Given the description of an element on the screen output the (x, y) to click on. 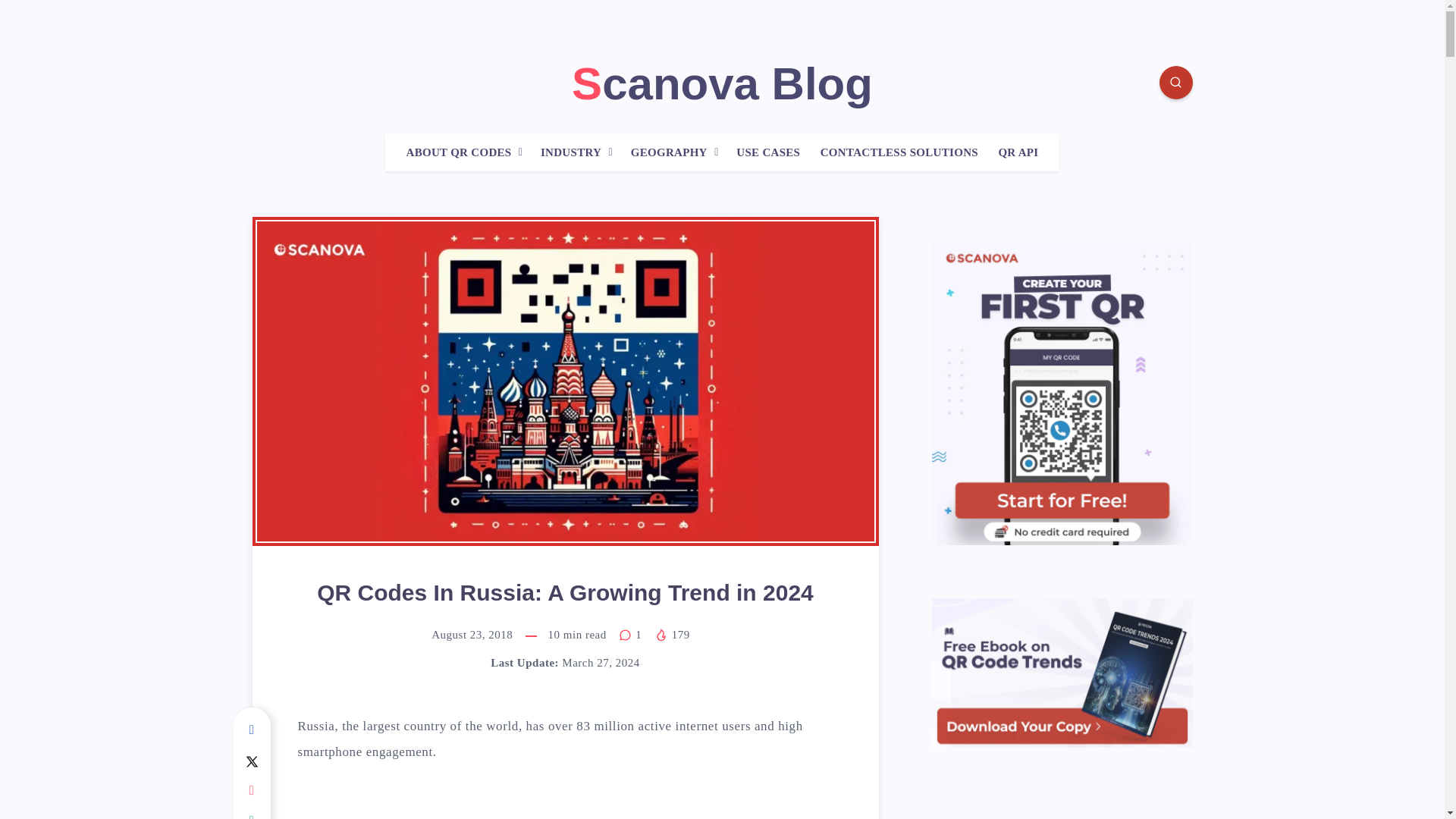
INDUSTRY (570, 152)
ABOUT QR CODES (459, 152)
Scanova Blog (722, 83)
1 Comment (631, 634)
179 Views (670, 634)
